Given the description of an element on the screen output the (x, y) to click on. 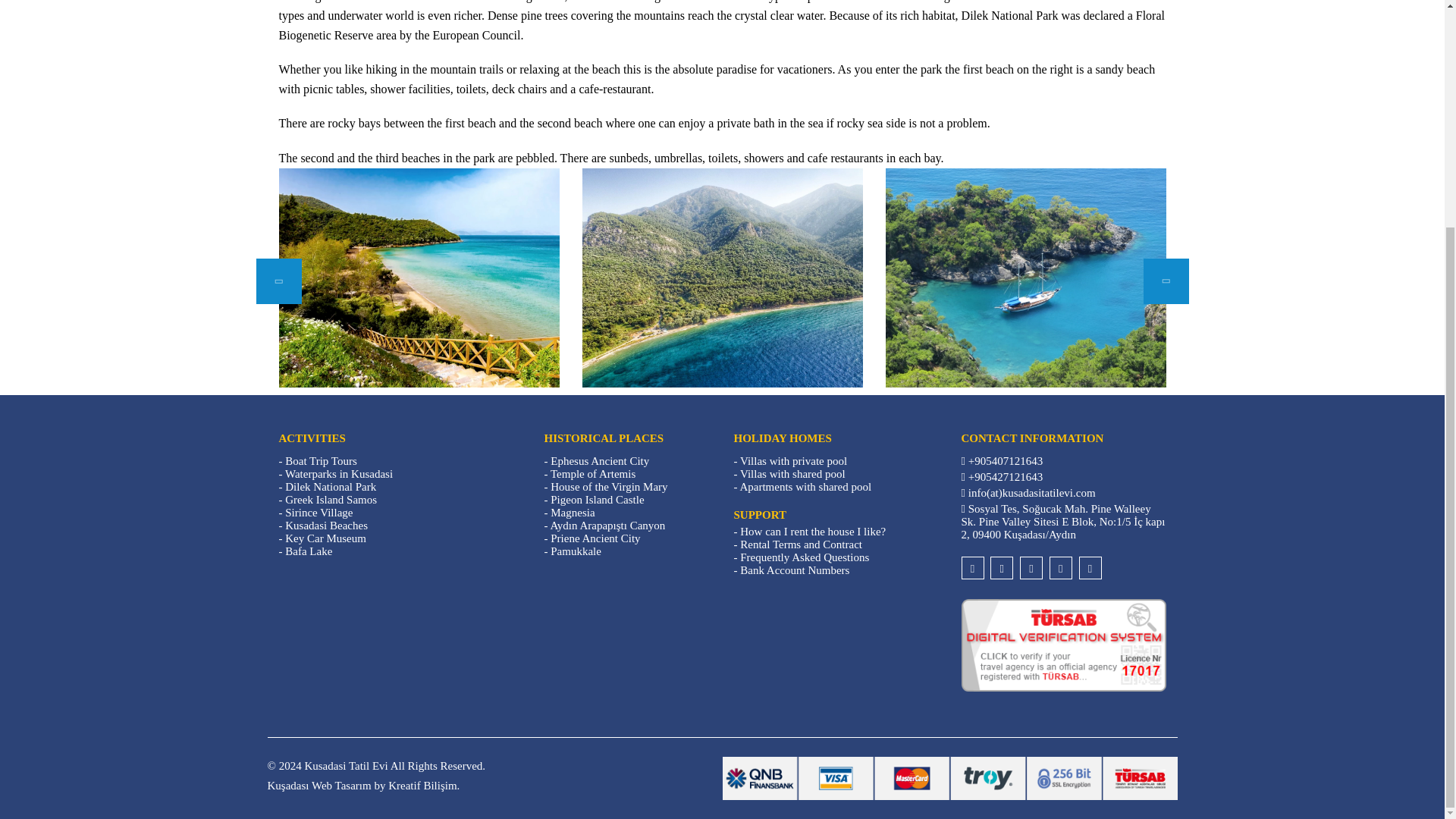
Dilek National Park (330, 486)
Greek Island Samos (331, 499)
Waterparks in Kusadasi (339, 473)
Boat Trip Tours (320, 460)
Sirince Village (318, 512)
